Given the description of an element on the screen output the (x, y) to click on. 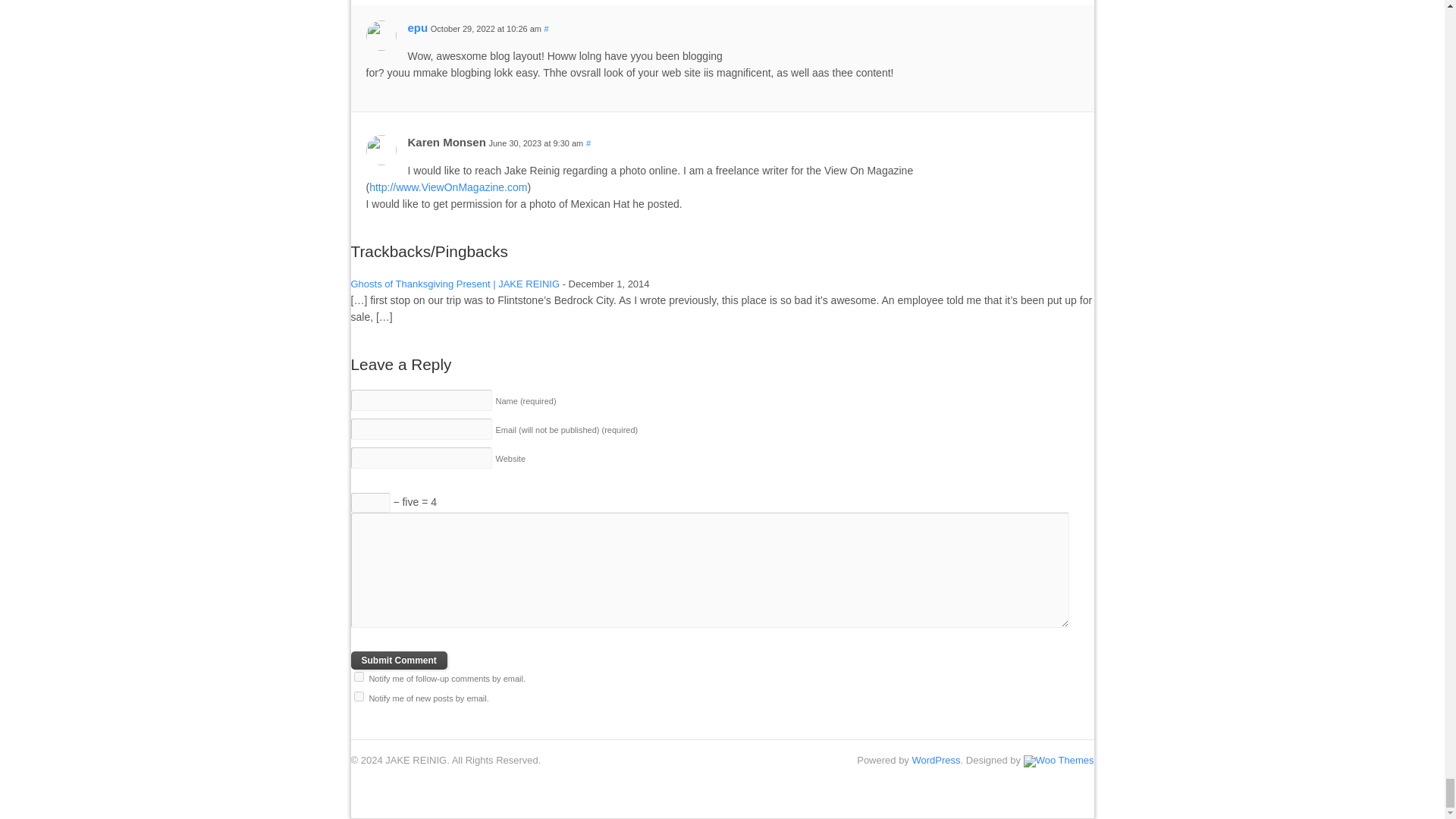
Direct link to this comment (588, 143)
subscribe (357, 676)
WordPress (935, 759)
Submit Comment (398, 660)
subscribe (357, 696)
Direct link to this comment (546, 28)
